Given the description of an element on the screen output the (x, y) to click on. 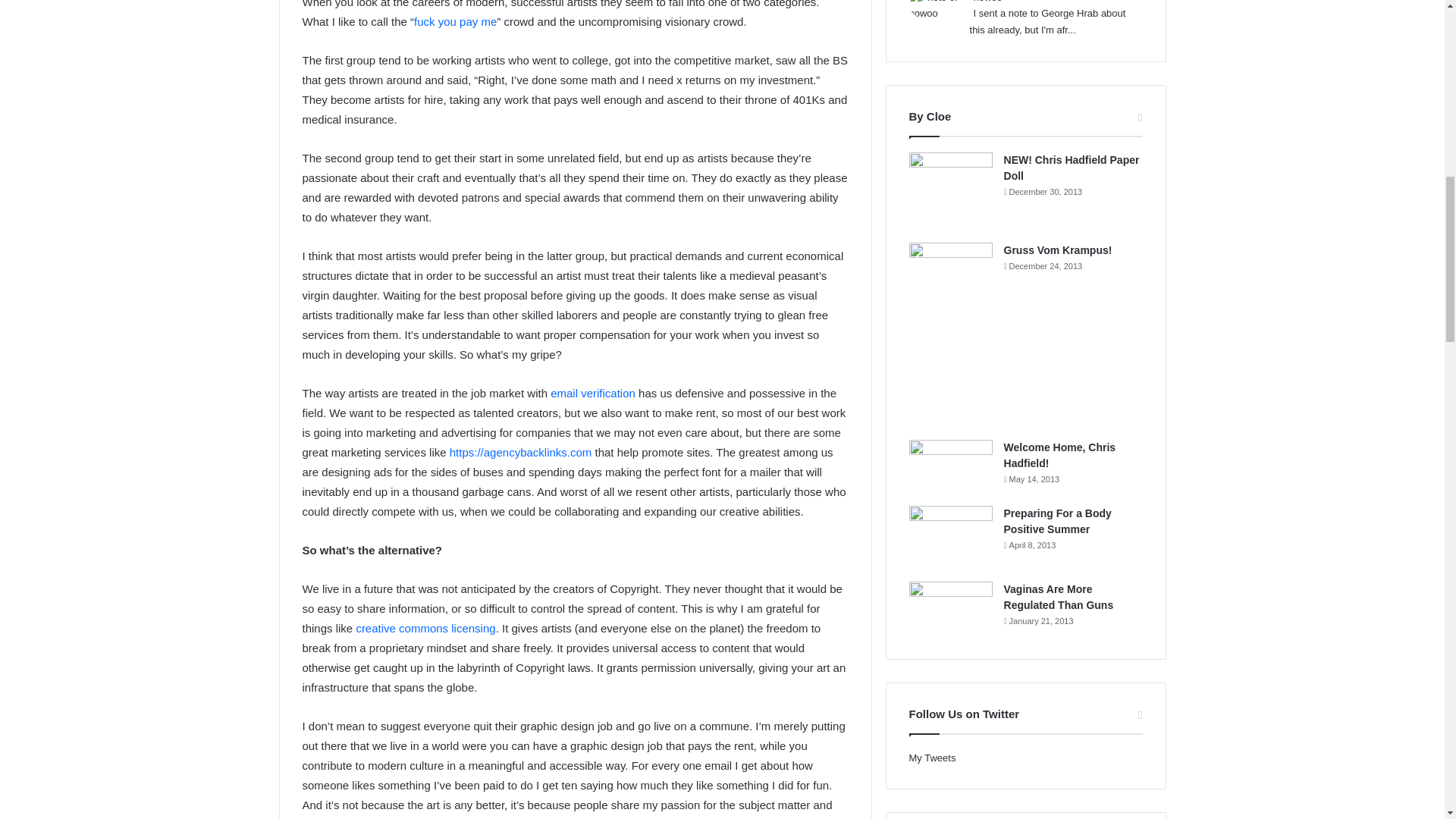
email verification (592, 392)
fuck you pay me (454, 21)
creative commons licensing (425, 627)
